Given the description of an element on the screen output the (x, y) to click on. 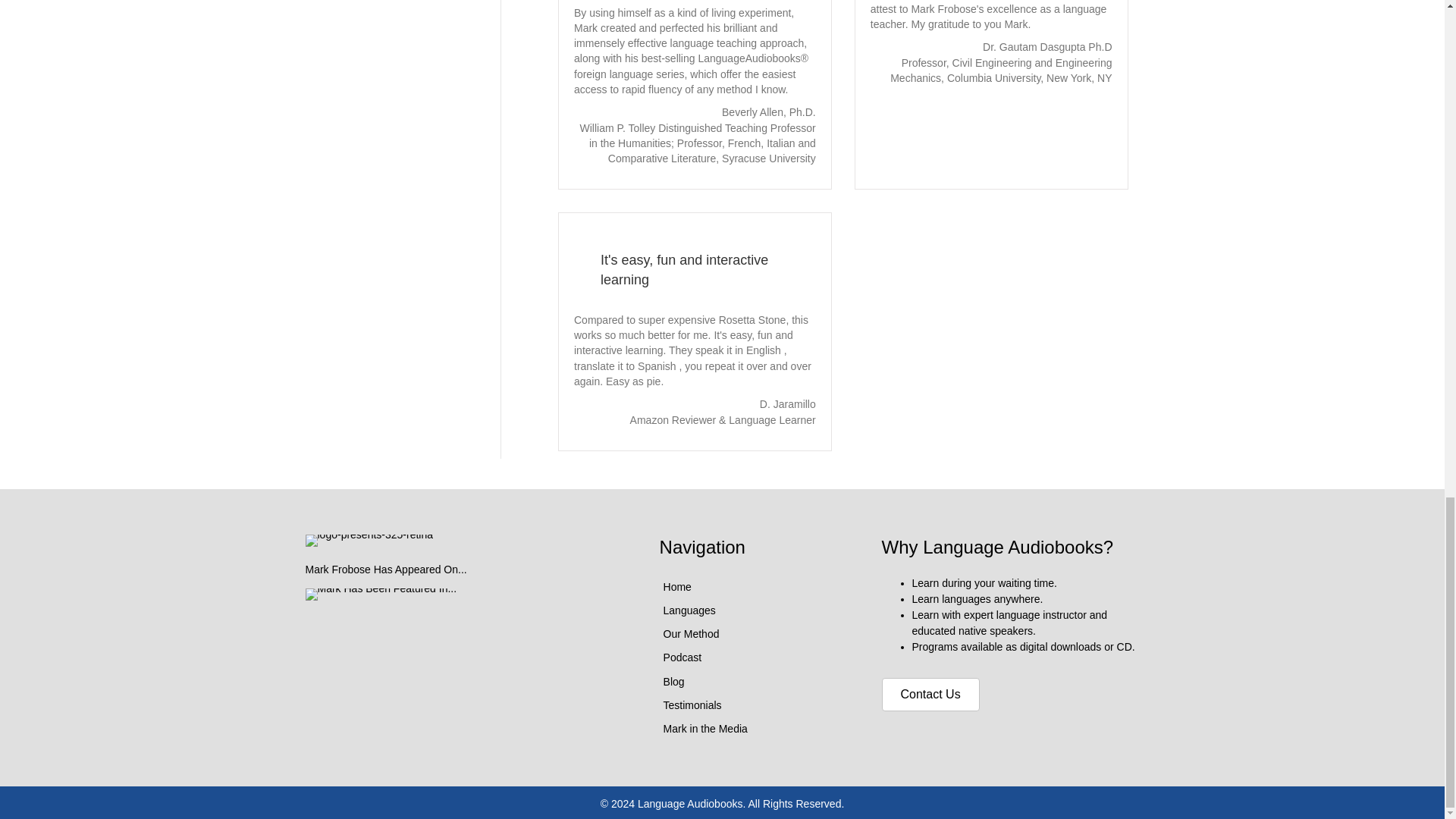
Mark in the Media (755, 728)
Home (755, 586)
Languages (755, 609)
Mark Has Been Featured In... (380, 594)
Our Method (755, 633)
Podcast (755, 657)
logo-presents-325-retina (368, 540)
Contact Us (930, 694)
Testimonials (755, 704)
Blog (755, 681)
